Given the description of an element on the screen output the (x, y) to click on. 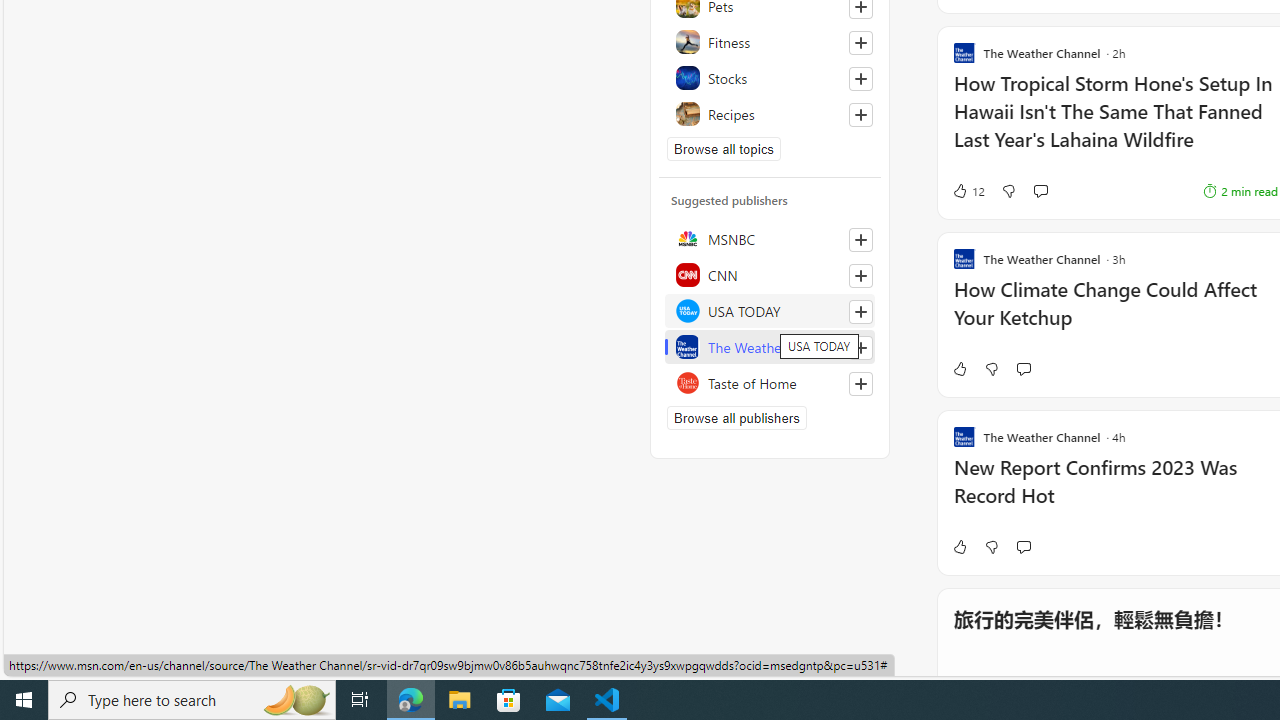
Recipes (770, 114)
Browse all publishers (736, 417)
MSNBC (770, 238)
How Climate Change Could Affect Your Ketchup (1115, 313)
Browse all topics (724, 148)
